Given the description of an element on the screen output the (x, y) to click on. 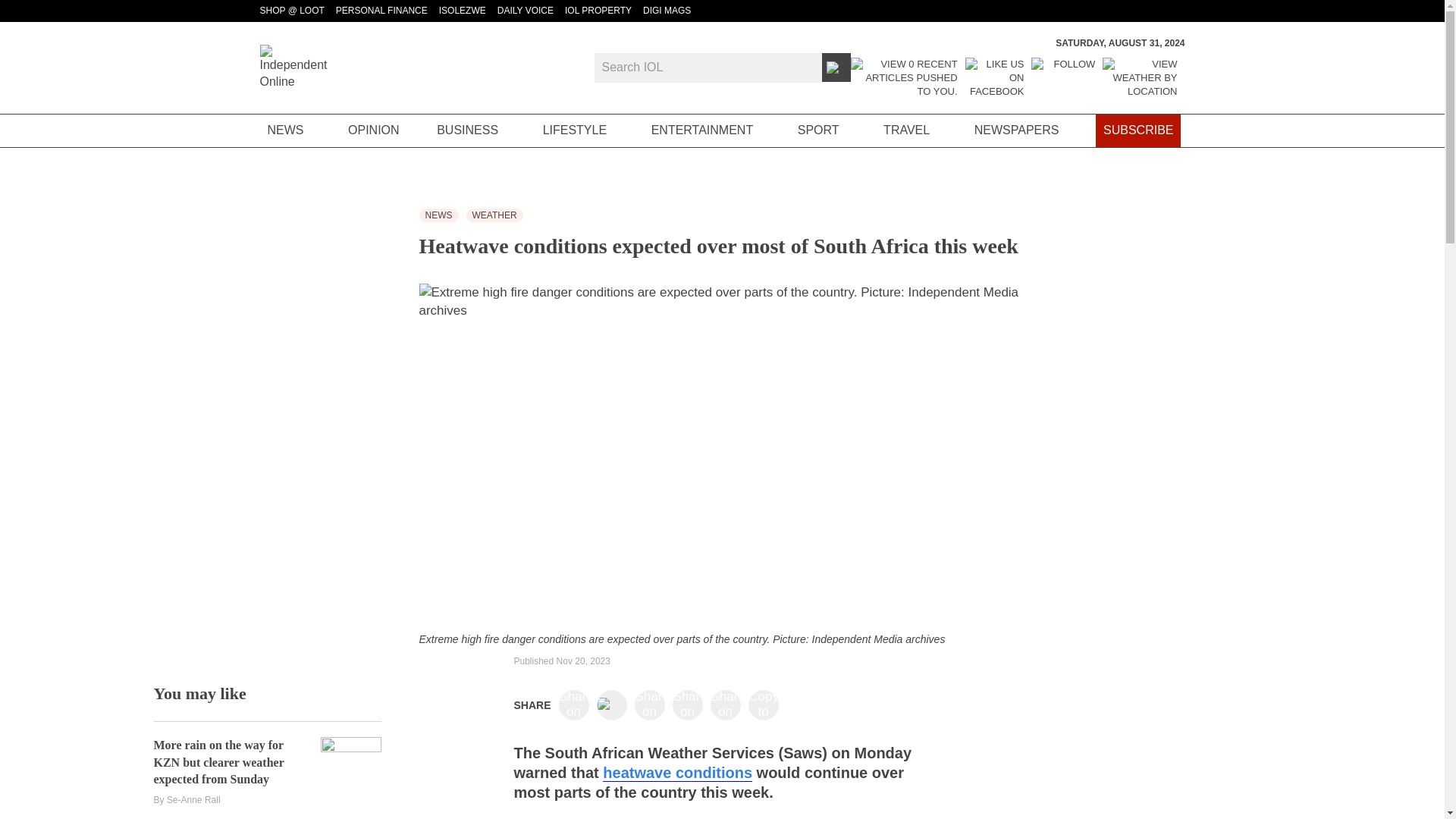
Like us on Facebook (995, 78)
Share on Twitter (611, 704)
Follow us on Twitter (1062, 78)
